Given the description of an element on the screen output the (x, y) to click on. 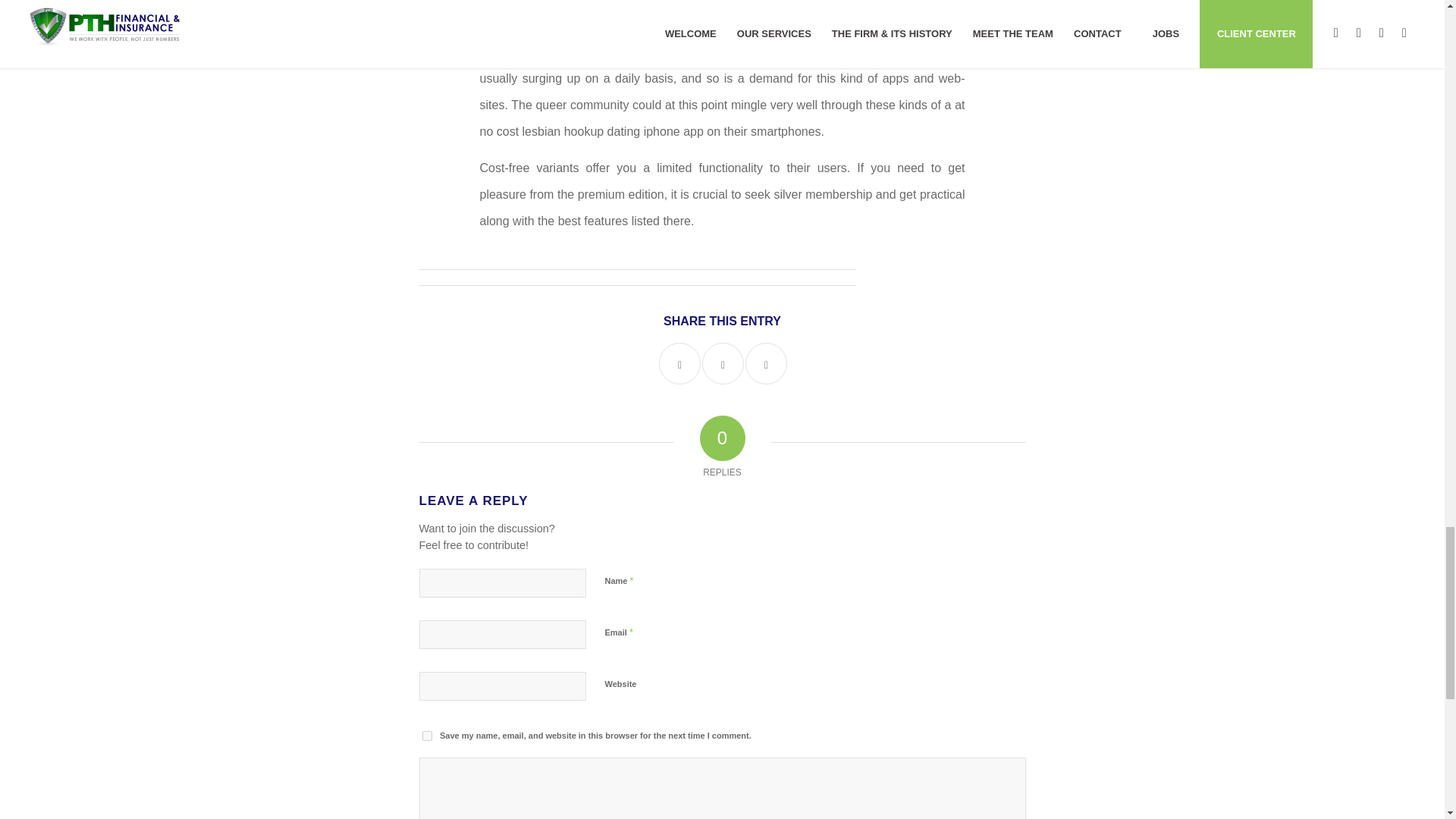
yes (426, 736)
